Given the description of an element on the screen output the (x, y) to click on. 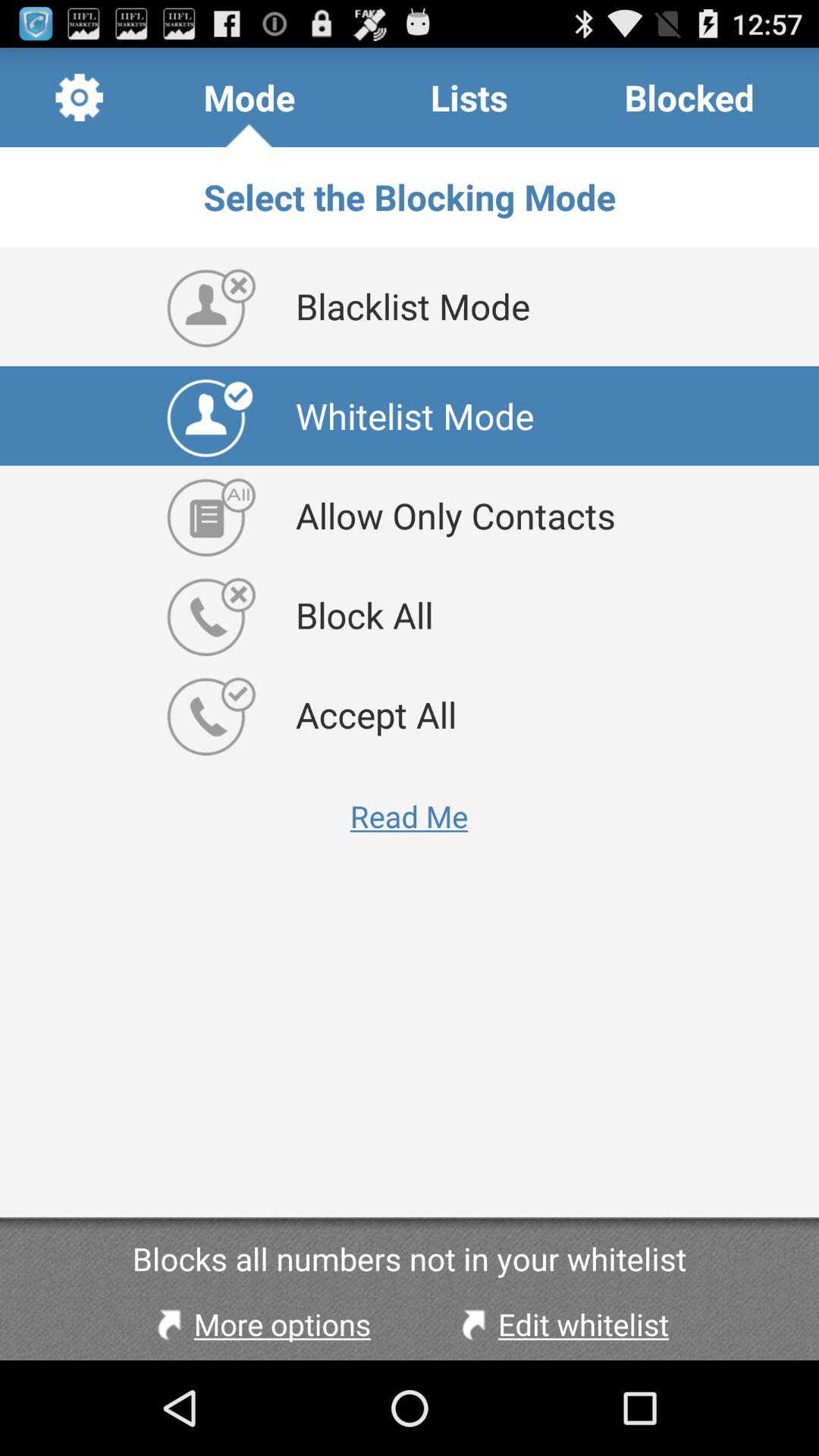
launch the icon below the blocks all numbers icon (260, 1324)
